Given the description of an element on the screen output the (x, y) to click on. 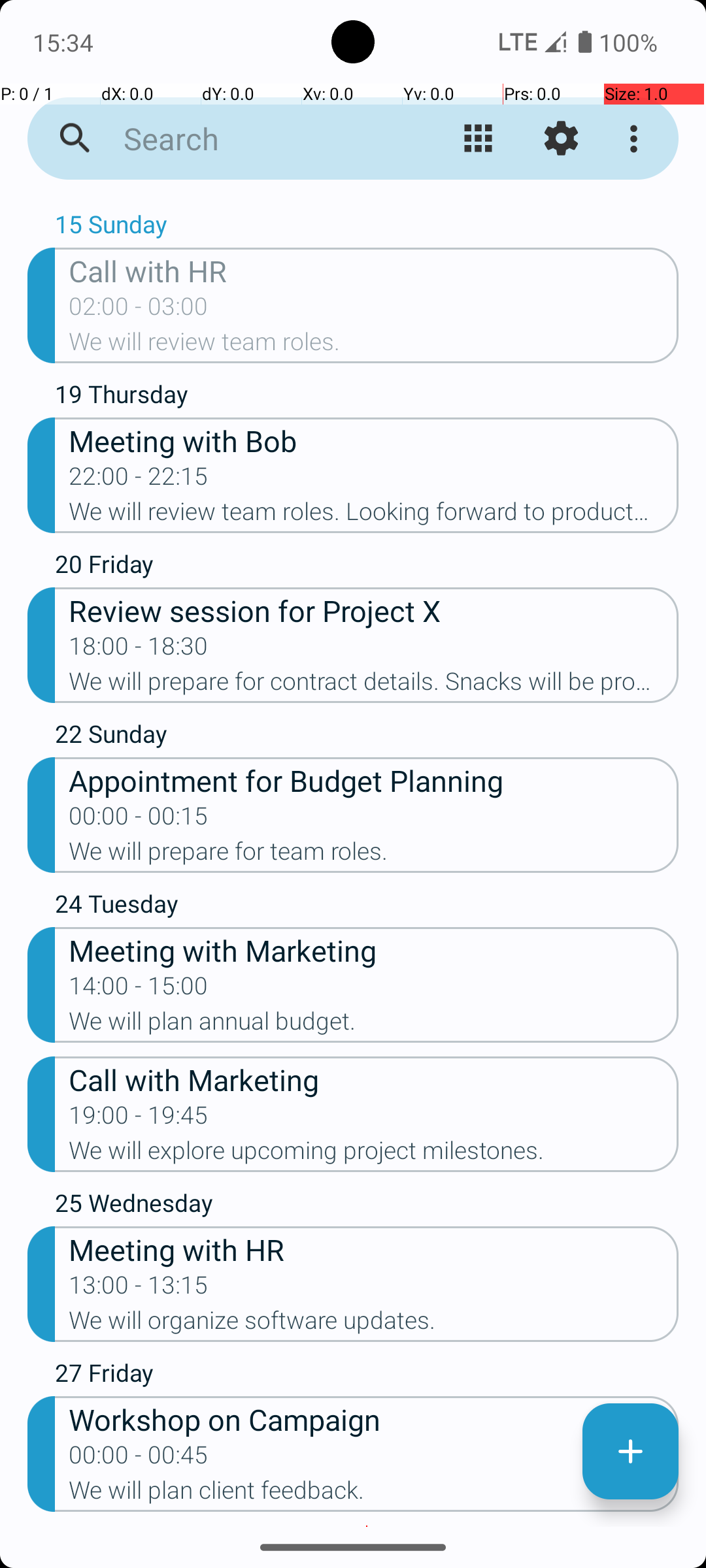
19 Thursday Element type: android.widget.TextView (366, 396)
20 Friday Element type: android.widget.TextView (366, 566)
22 Sunday Element type: android.widget.TextView (366, 736)
24 Tuesday Element type: android.widget.TextView (366, 906)
25 Wednesday Element type: android.widget.TextView (366, 1205)
27 Friday Element type: android.widget.TextView (366, 1375)
28 Saturday Element type: android.widget.TextView (366, 1525)
Call with HR Element type: android.widget.TextView (373, 269)
02:00 - 03:00 Element type: android.widget.TextView (137, 309)
We will review team roles. Element type: android.widget.TextView (373, 345)
Meeting with Bob Element type: android.widget.TextView (373, 439)
22:00 - 22:15 Element type: android.widget.TextView (137, 479)
We will review team roles. Looking forward to productive discussions. Element type: android.widget.TextView (373, 515)
18:00 - 18:30 Element type: android.widget.TextView (137, 649)
We will prepare for contract details. Snacks will be provided. Element type: android.widget.TextView (373, 684)
00:00 - 00:15 Element type: android.widget.TextView (137, 819)
We will prepare for team roles. Element type: android.widget.TextView (373, 854)
14:00 - 15:00 Element type: android.widget.TextView (137, 989)
We will plan annual budget. Element type: android.widget.TextView (373, 1024)
Call with Marketing Element type: android.widget.TextView (373, 1078)
19:00 - 19:45 Element type: android.widget.TextView (137, 1118)
We will explore upcoming project milestones. Element type: android.widget.TextView (373, 1154)
13:00 - 13:15 Element type: android.widget.TextView (137, 1288)
We will organize software updates. Element type: android.widget.TextView (373, 1323)
00:00 - 00:45 Element type: android.widget.TextView (137, 1458)
We will plan client feedback. Element type: android.widget.TextView (373, 1493)
